Given the description of an element on the screen output the (x, y) to click on. 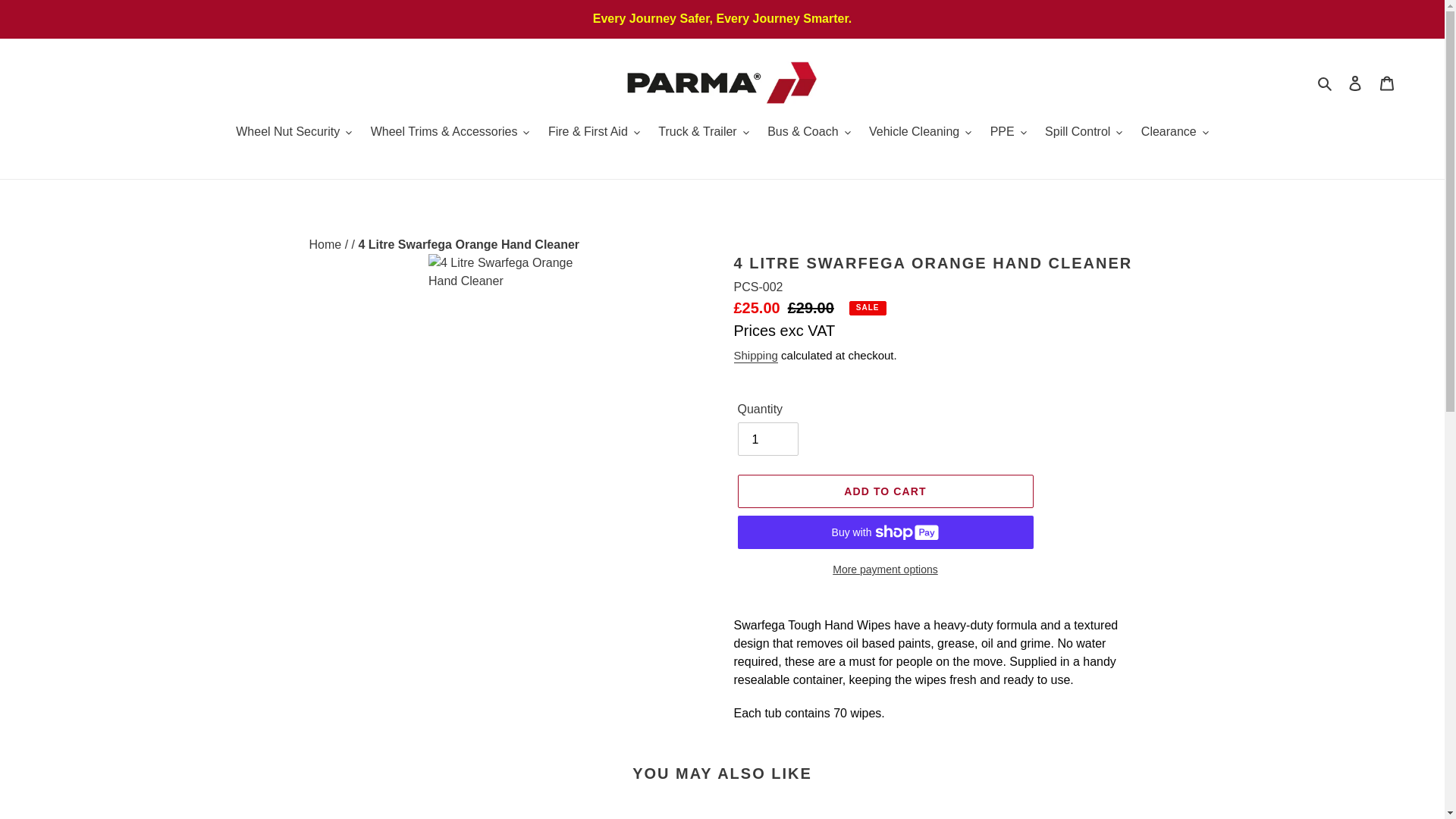
1 (766, 438)
Log in (1355, 82)
Search (1326, 82)
Cart (1387, 82)
